Given the description of an element on the screen output the (x, y) to click on. 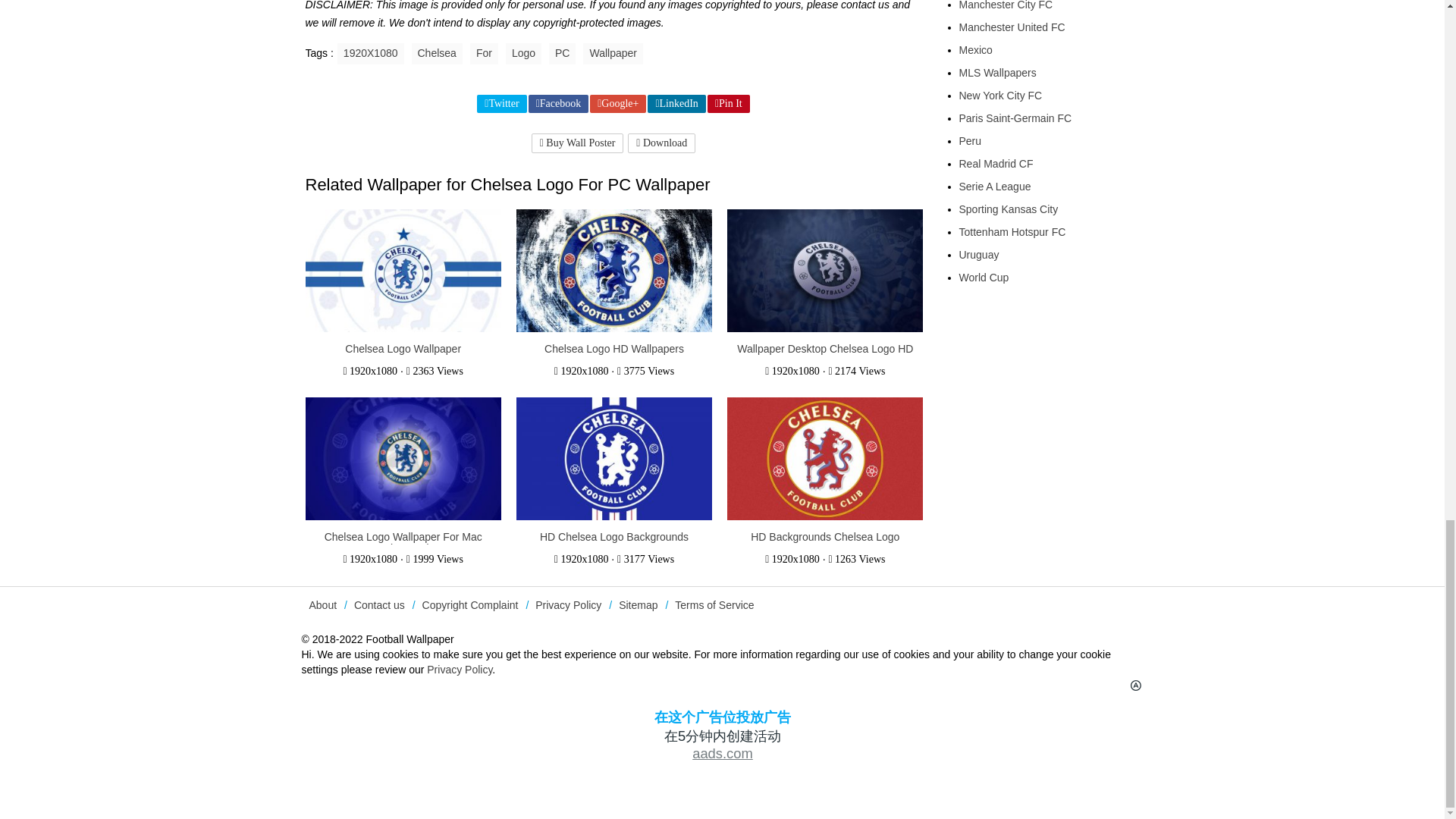
Chelsea (435, 53)
HD Backgrounds Chelsea Logo (824, 459)
Chelsea Logo Wallpaper (403, 348)
Buy Wall Poster (577, 143)
Chelsea Logo HD Wallpapers (614, 348)
HD Chelsea Logo Backgrounds (614, 536)
LinkedIn (675, 104)
Logo (523, 53)
Facebook (558, 104)
HD Chelsea Logo Backgrounds (613, 459)
